Given the description of an element on the screen output the (x, y) to click on. 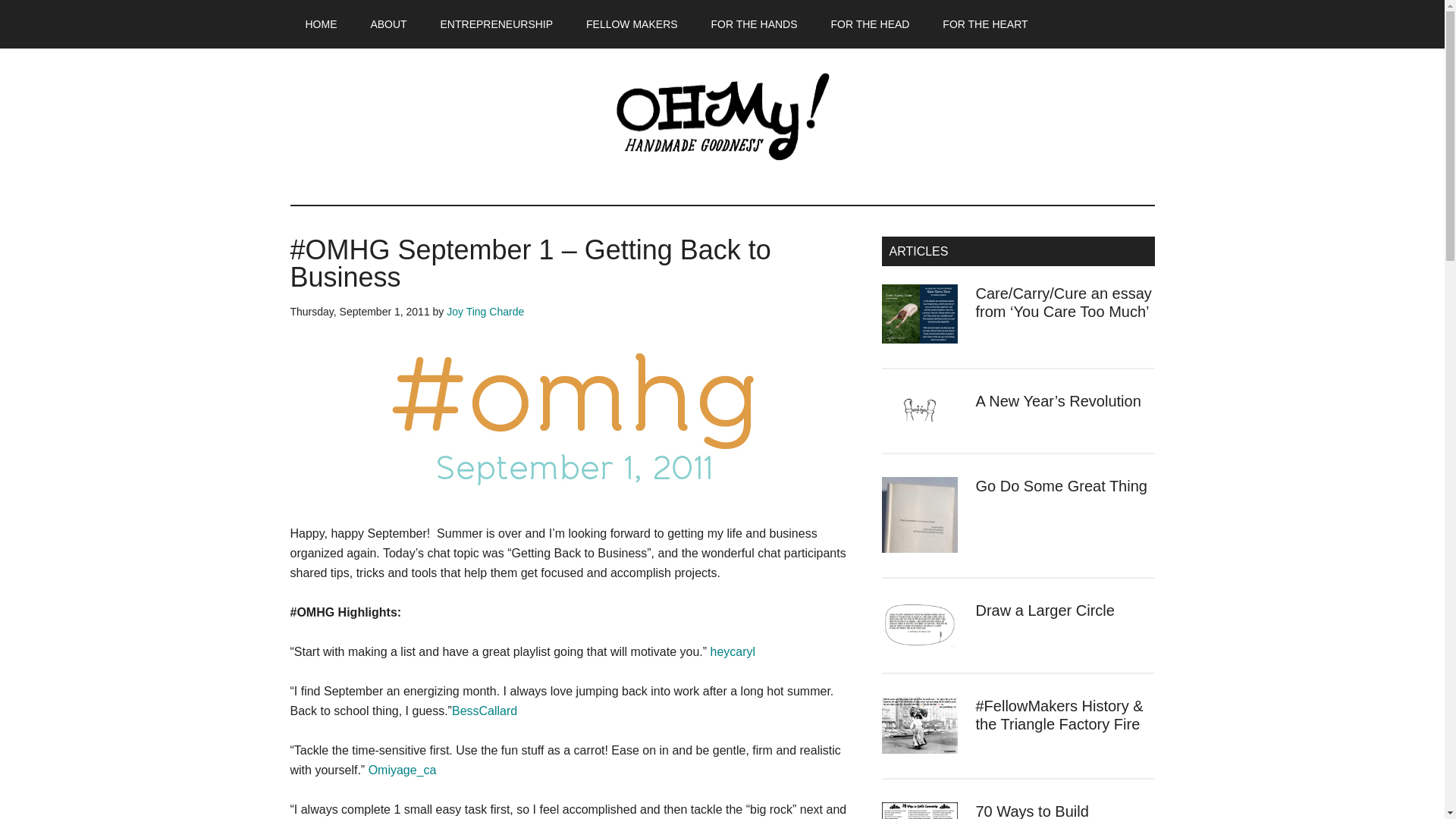
FOR THE HANDS (753, 24)
HOME (320, 24)
heycaryl (730, 651)
FOR THE HEART (984, 24)
BessCallard (483, 710)
ENTREPRENEURSHIP (497, 24)
FOR THE HEAD (869, 24)
FELLOW MAKERS (631, 24)
ABOUT (388, 24)
